Given the description of an element on the screen output the (x, y) to click on. 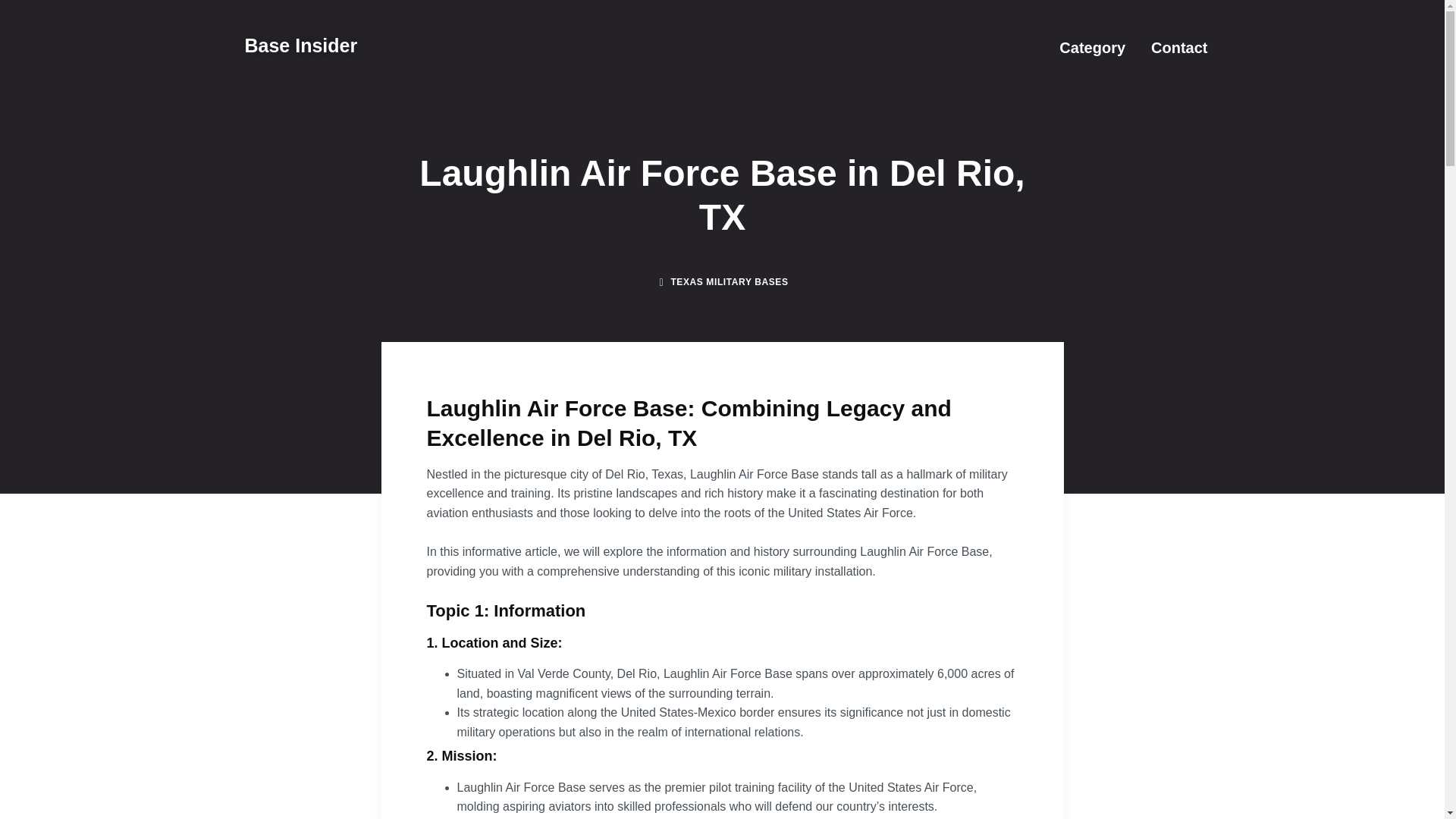
Category (1092, 47)
Base Insider (300, 45)
TEXAS MILITARY BASES (728, 281)
Contact (1179, 47)
